Given the description of an element on the screen output the (x, y) to click on. 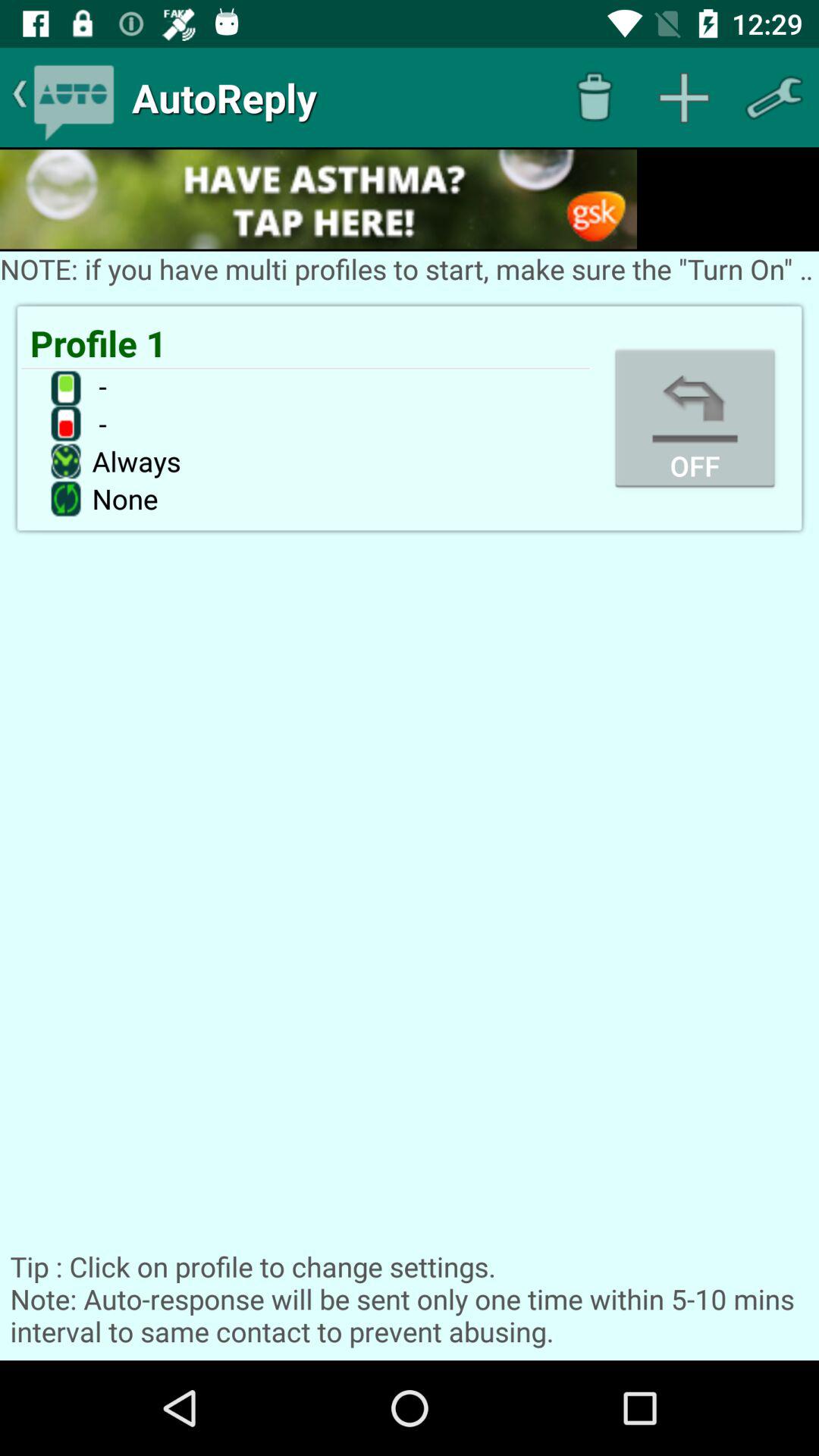
add something (684, 97)
